Given the description of an element on the screen output the (x, y) to click on. 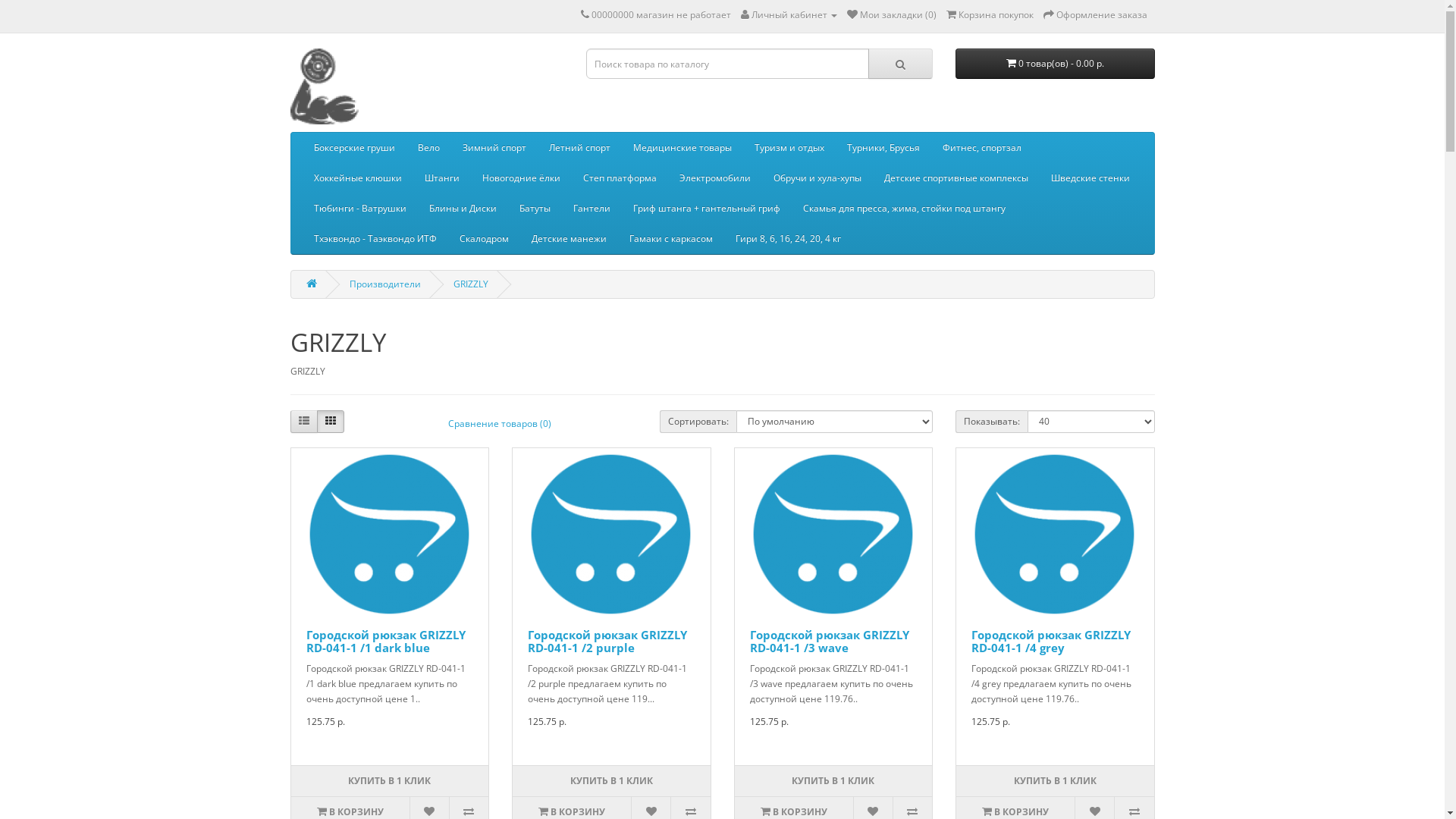
Gantel.by Element type: hover (327, 86)
GRIZZLY Element type: text (470, 283)
